Given the description of an element on the screen output the (x, y) to click on. 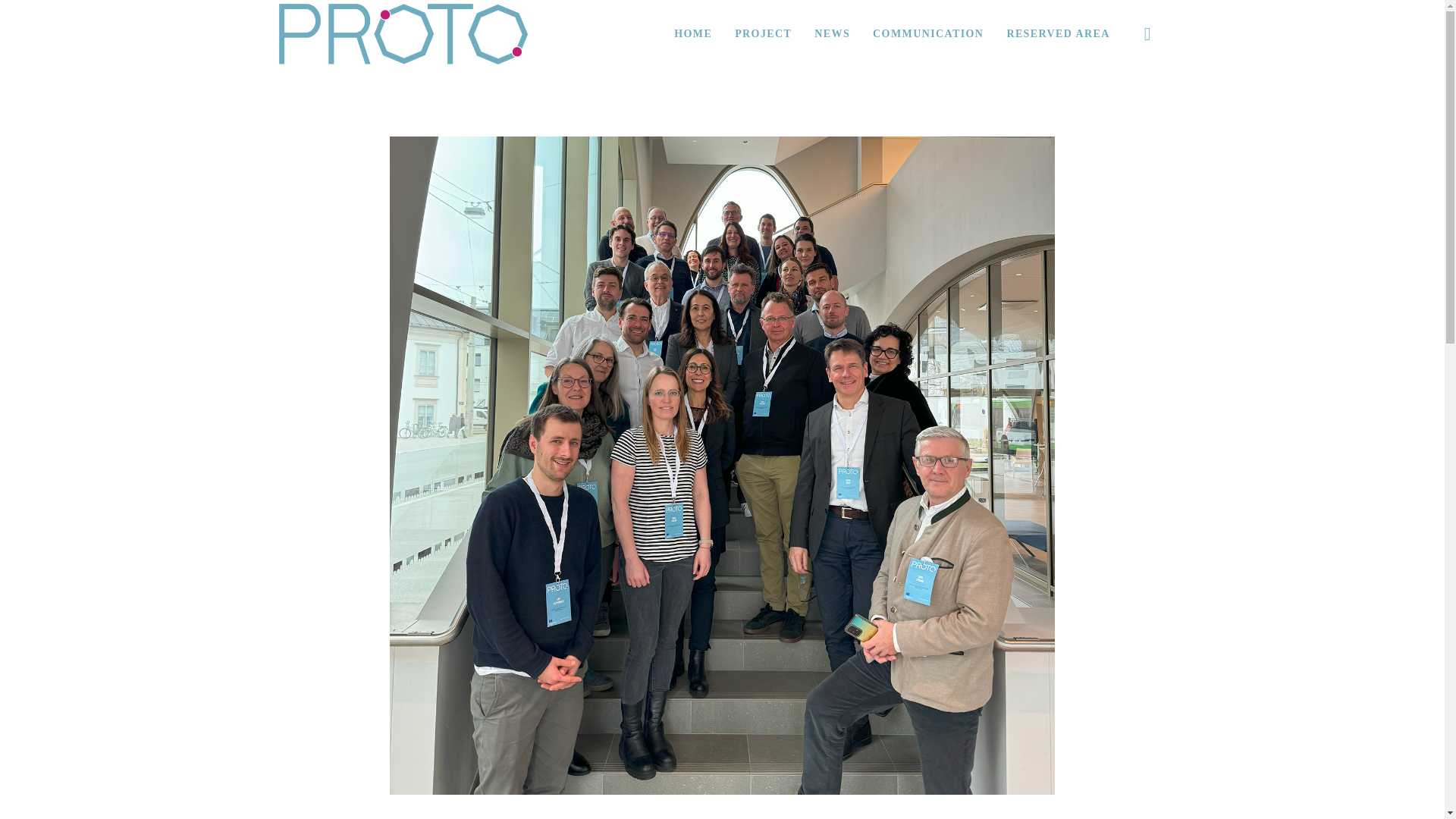
PROTO (403, 33)
COMMUNICATION (928, 33)
RESERVED AREA (1057, 33)
